Given the description of an element on the screen output the (x, y) to click on. 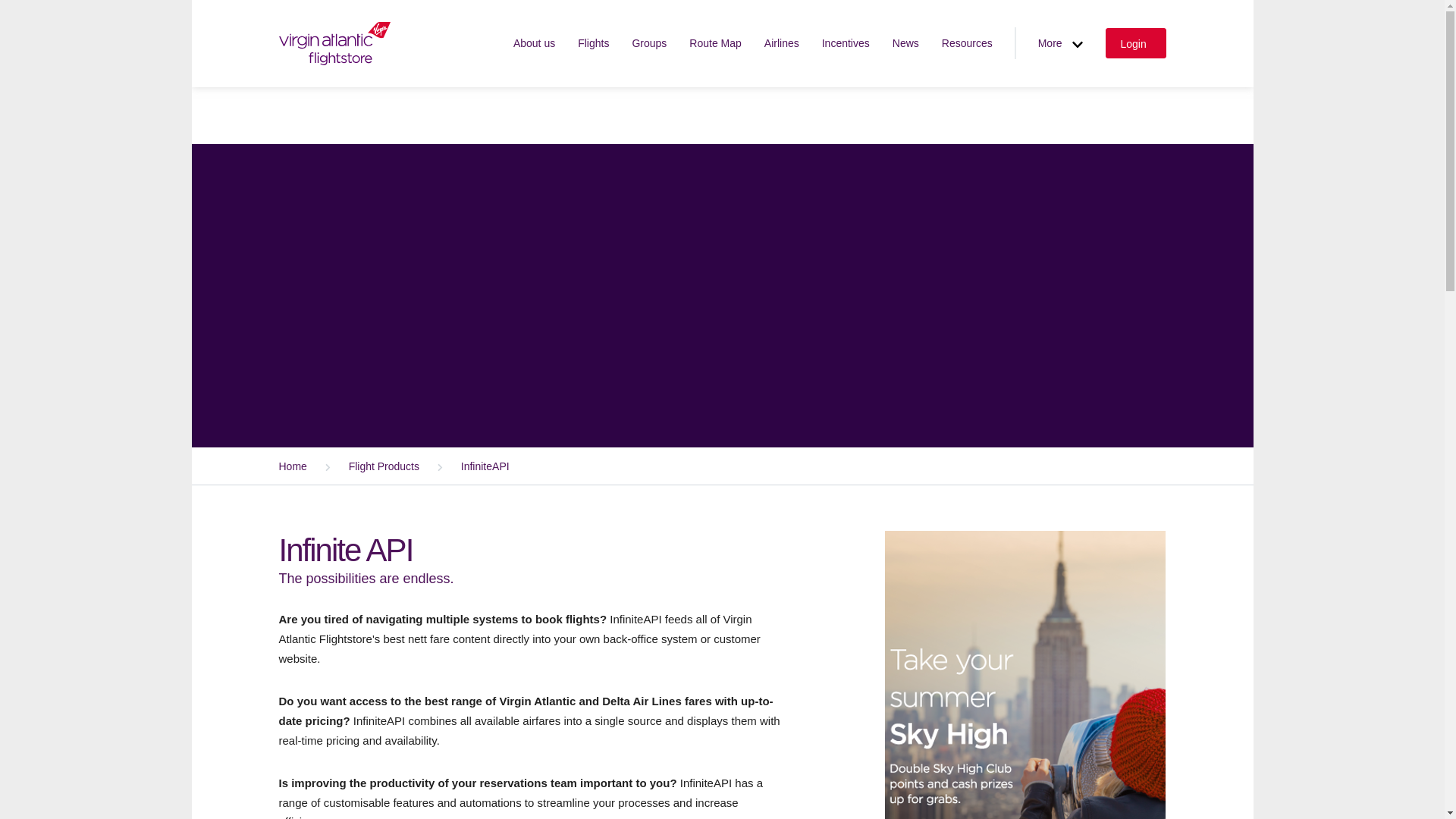
Route Map (714, 42)
Flights (593, 42)
About us (533, 42)
Flight Products (366, 466)
Incentives (845, 42)
Airlines (781, 42)
News (905, 42)
Groups (648, 42)
More (1060, 42)
Home (294, 466)
InfiniteAPI (465, 466)
Resources (967, 42)
Login (1135, 42)
